Given the description of an element on the screen output the (x, y) to click on. 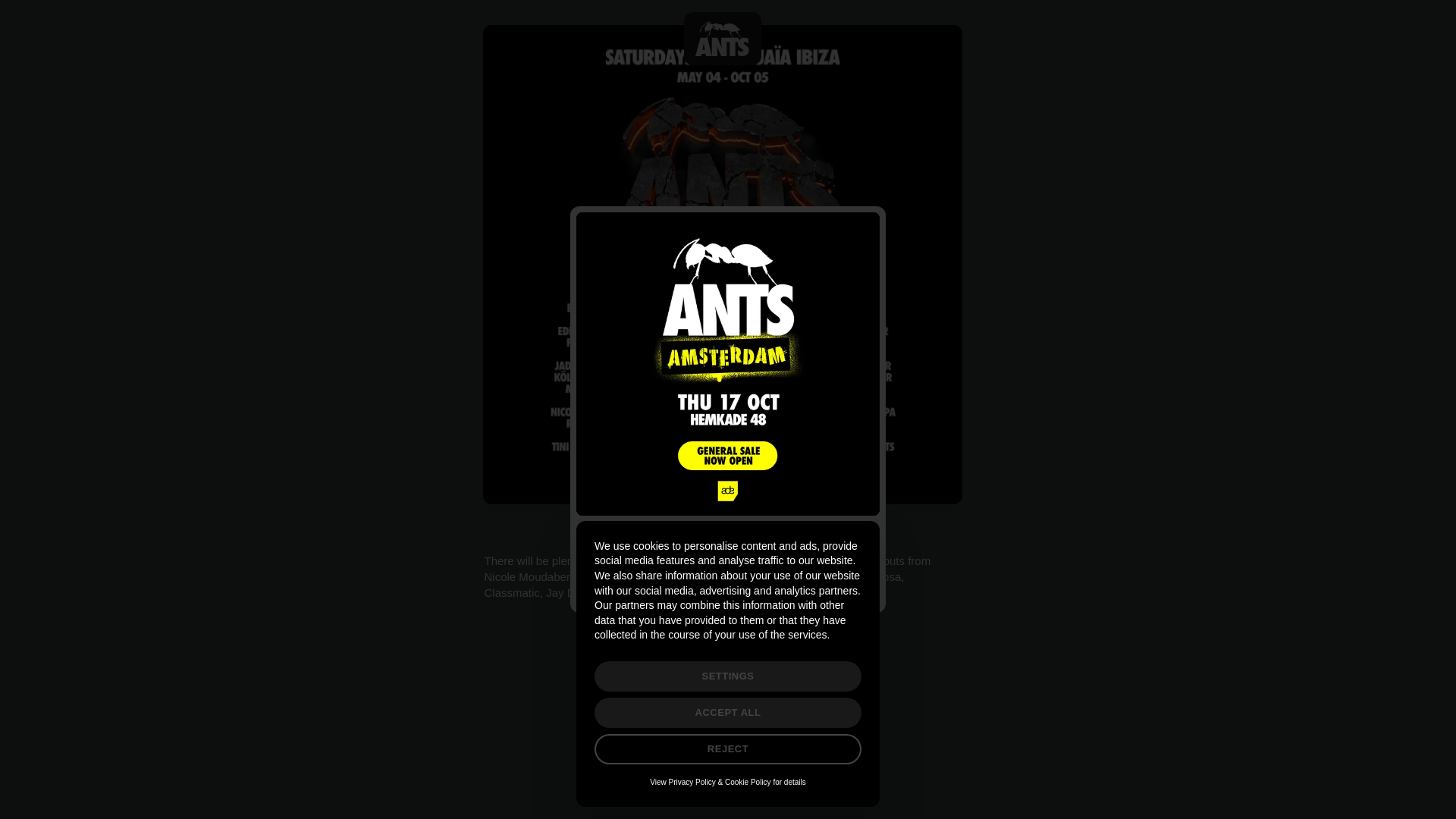
ES (728, 2)
EN (703, 2)
